Given the description of an element on the screen output the (x, y) to click on. 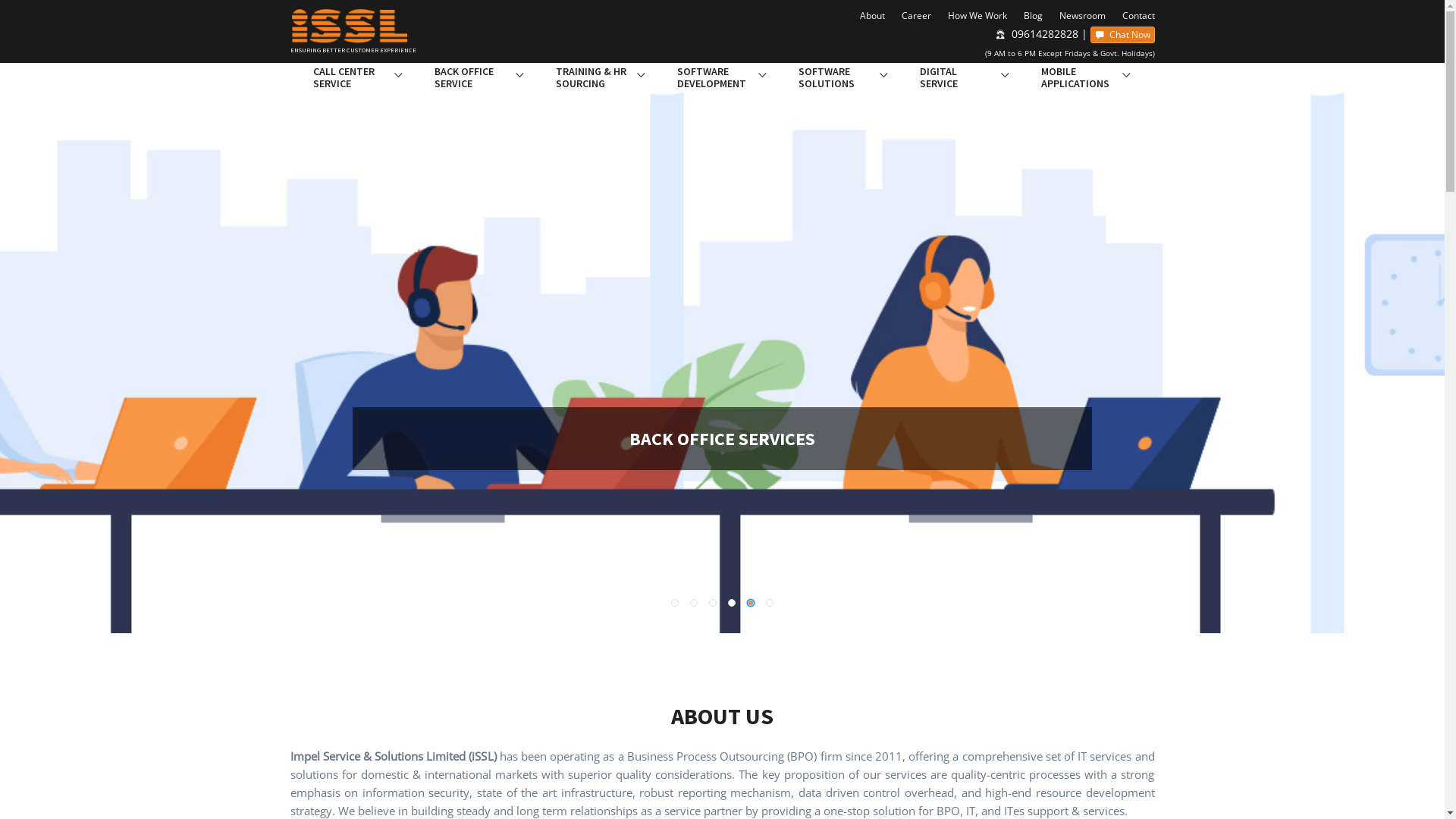
SOFTWARE SOLUTIONS Element type: text (835, 77)
CALL CENTER SERVICE Element type: text (350, 77)
ENSURING BETTER CUSTOMER EXPERIENCE Element type: text (389, 36)
TRAINING & HR SOURCING Element type: text (592, 77)
How We Work Element type: text (974, 15)
BACK OFFICE SERVICE Element type: text (471, 77)
Contact Element type: text (1135, 15)
Blog Element type: text (1029, 15)
About Element type: text (868, 15)
Chat Now Element type: text (1122, 34)
DIGITAL SERVICE Element type: text (956, 77)
Newsroom Element type: text (1078, 15)
MOBILE APPLICATIONS Element type: text (1078, 77)
Career Element type: text (912, 15)
SOFTWARE DEVELOPMENT Element type: text (714, 77)
